Given the description of an element on the screen output the (x, y) to click on. 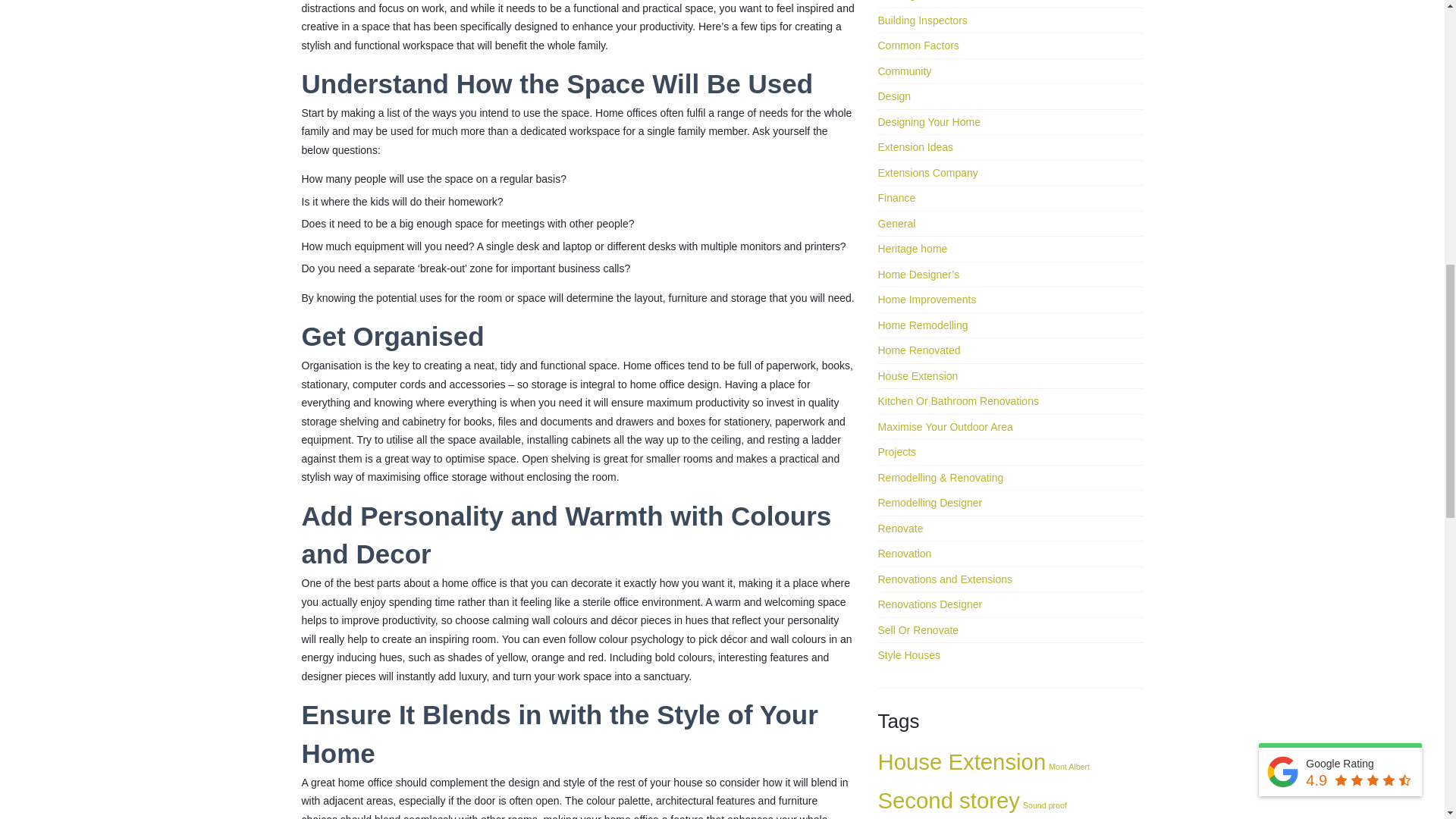
Common Factors (918, 45)
Building Inspectors (922, 19)
Community (904, 70)
